Given the description of an element on the screen output the (x, y) to click on. 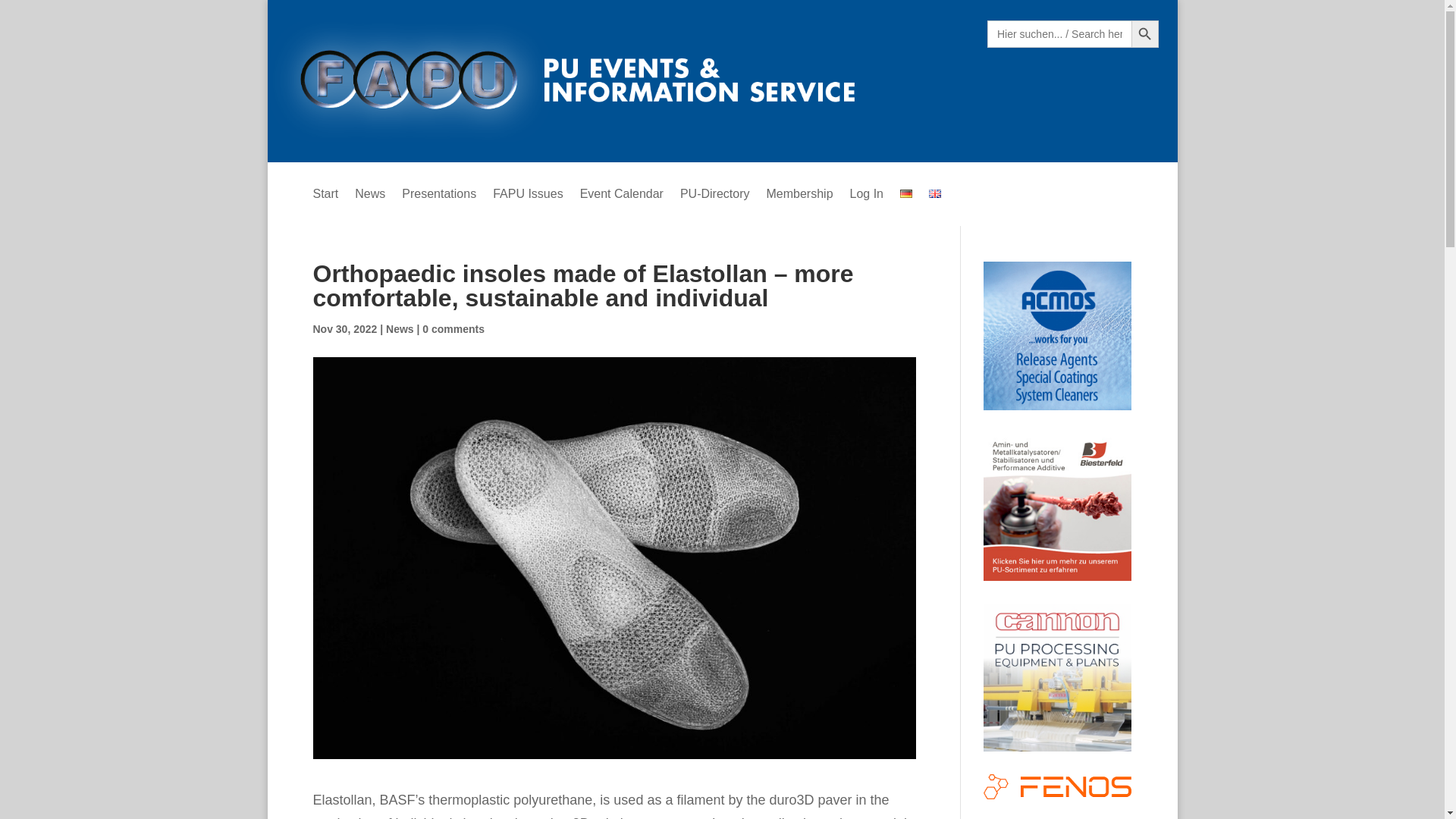
News (370, 197)
Search Button (1144, 33)
FAPU Issues (527, 197)
Event Calendar (621, 197)
News (399, 328)
FAPU-Banner-2023-210x38-ohne-hintergrund (601, 80)
Start (325, 197)
Membership (798, 197)
PU-Directory (714, 197)
Presentations (438, 197)
